Given the description of an element on the screen output the (x, y) to click on. 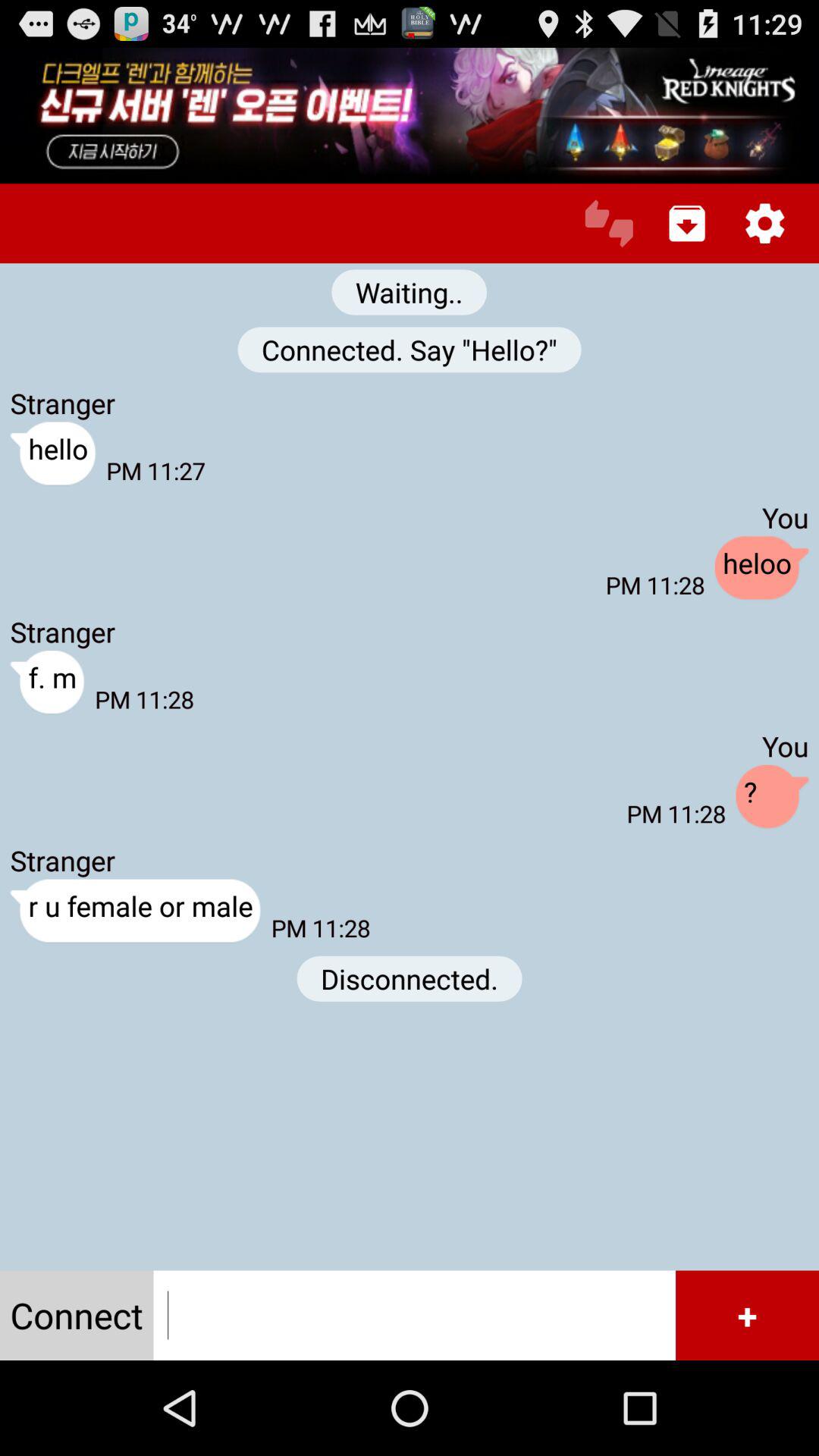
select the item above connected. say "hello?" app (609, 223)
